Given the description of an element on the screen output the (x, y) to click on. 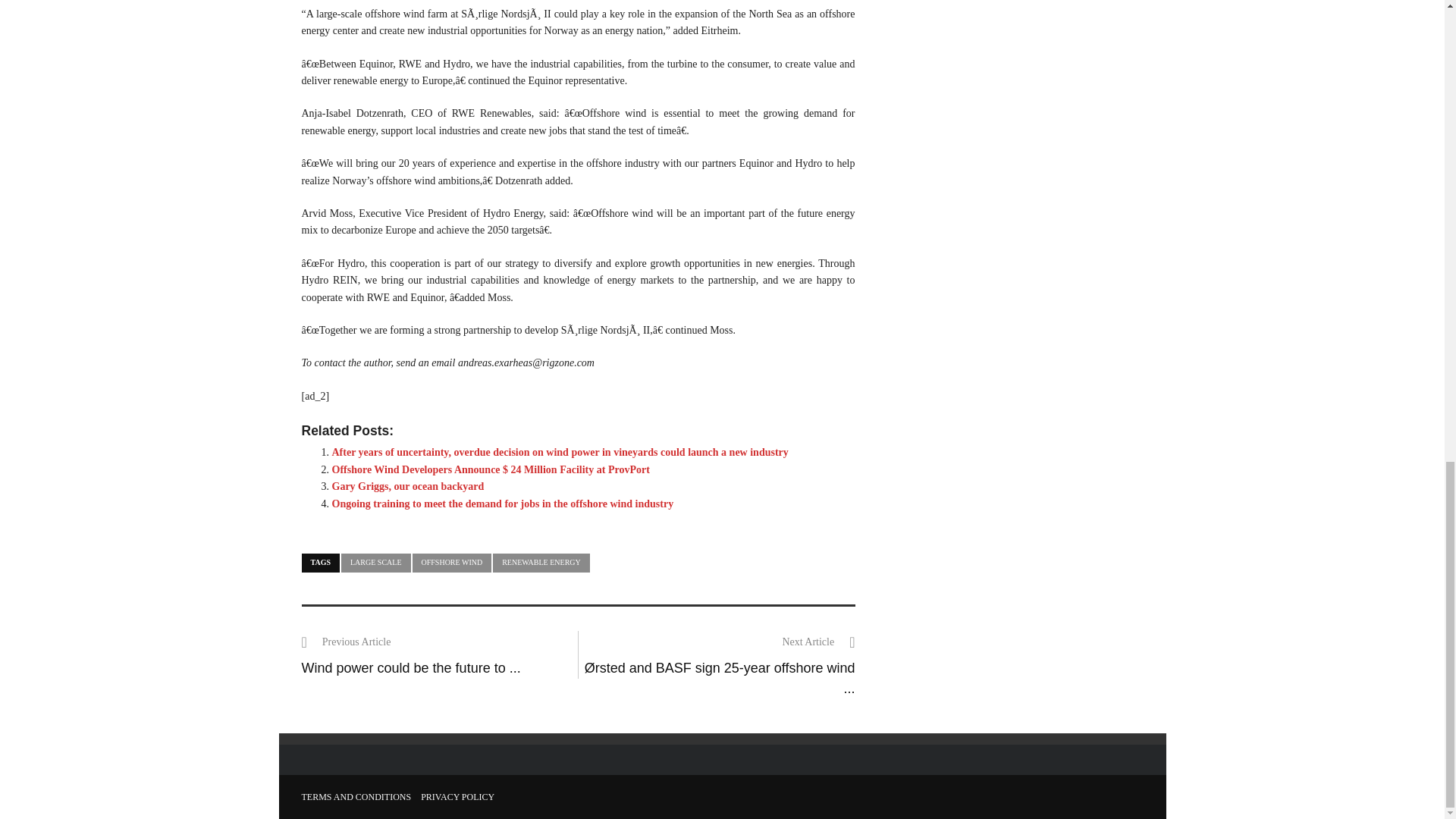
OFFSHORE WIND (452, 562)
Gary Griggs, our ocean backyard (407, 486)
View all posts tagged large scale (375, 562)
RENEWABLE ENERGY (541, 562)
View all posts tagged offshore wind (452, 562)
TERMS AND CONDITIONS (356, 796)
Wind power could be the future to ... (411, 667)
PRIVACY POLICY (457, 796)
LARGE SCALE (375, 562)
Gary Griggs, our ocean backyard (407, 486)
View all posts tagged renewable energy (541, 562)
